Given the description of an element on the screen output the (x, y) to click on. 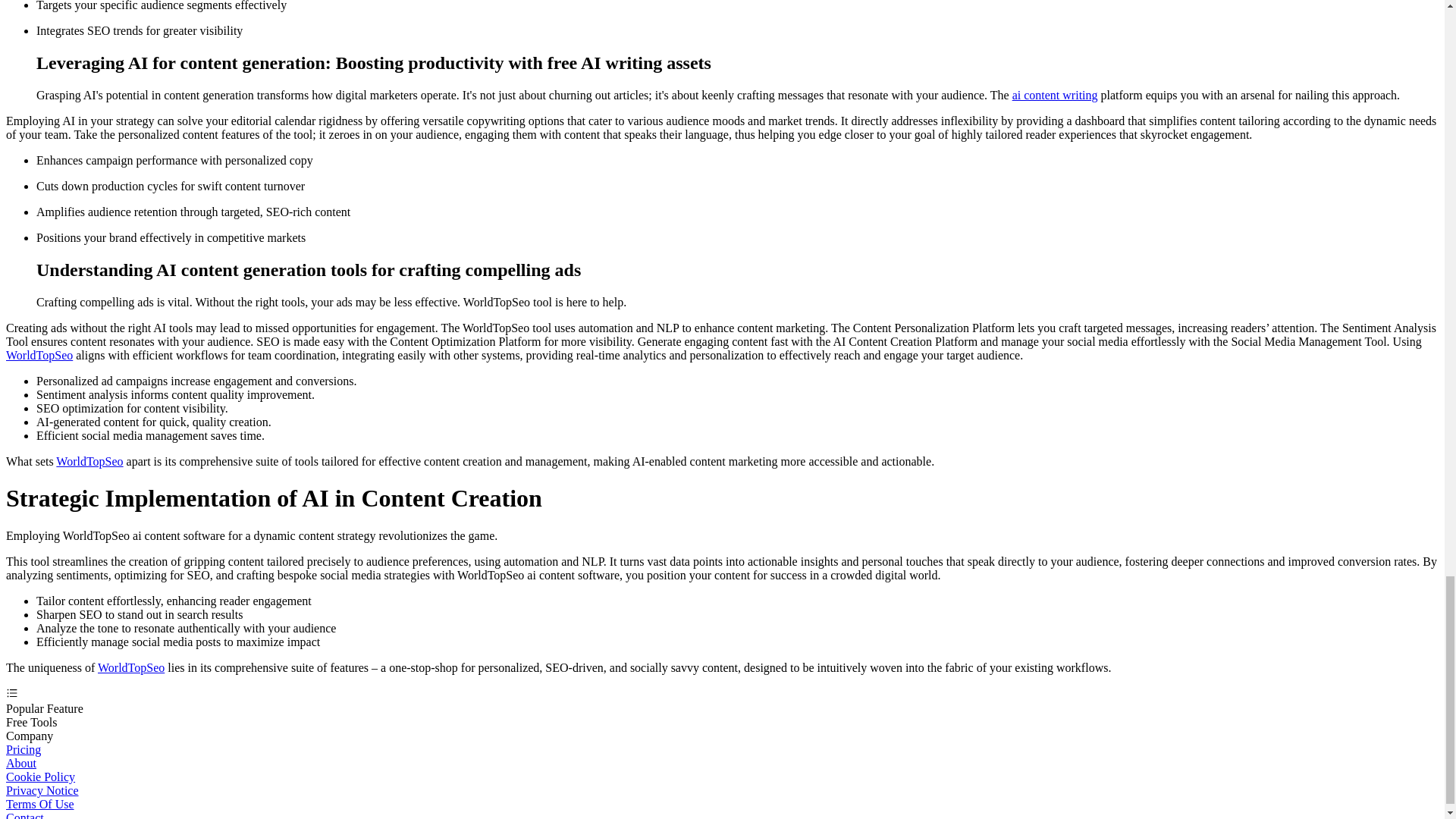
Cookie Policy (40, 776)
WorldTopSeo (38, 354)
WorldTopSeo (89, 461)
Privacy Notice (41, 789)
Terms Of Use (39, 803)
ai content writing (1054, 94)
WorldTopSeo (130, 667)
About (20, 762)
Pricing (22, 748)
